Given the description of an element on the screen output the (x, y) to click on. 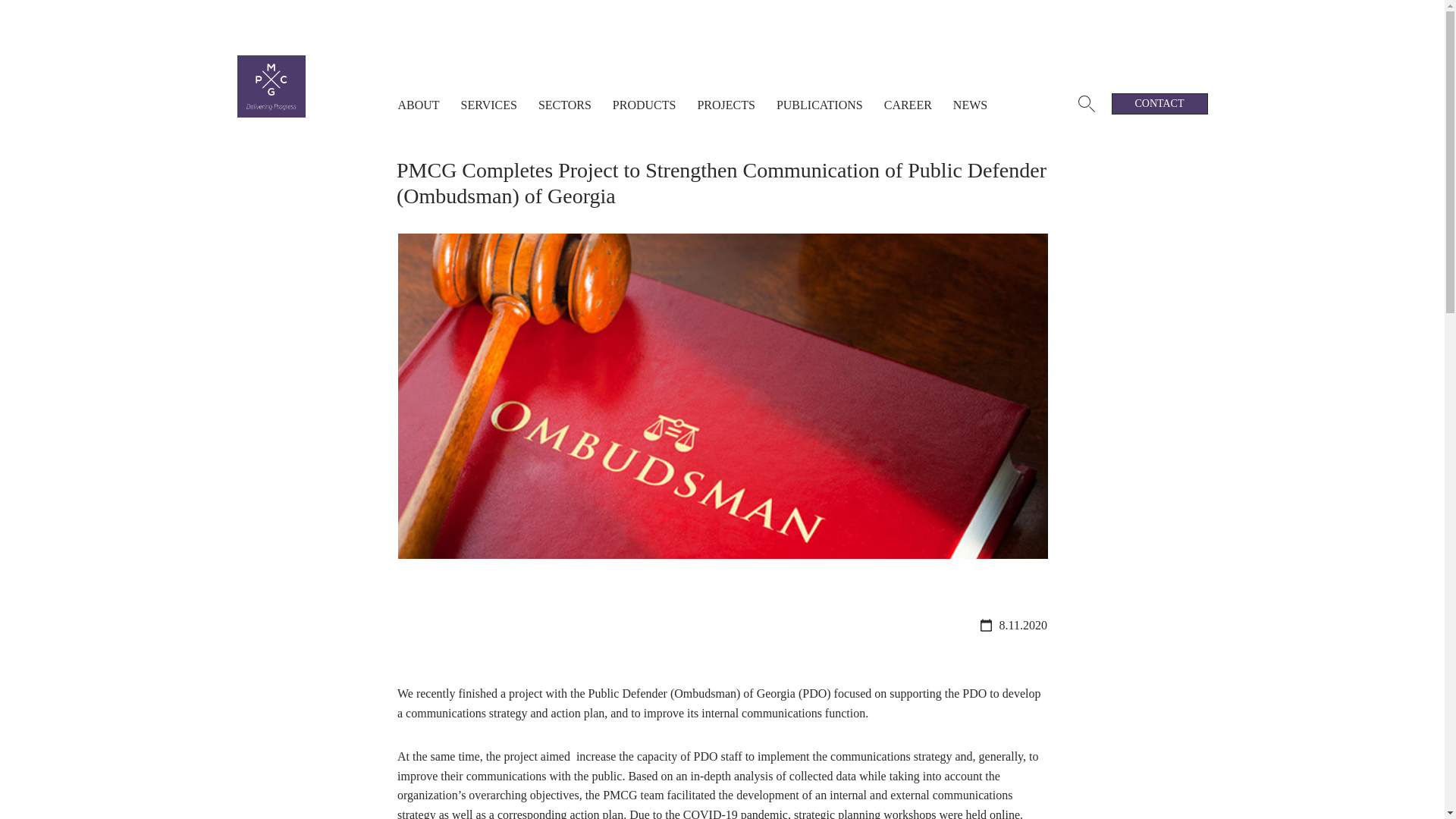
SERVICES (488, 84)
PUBLICATIONS (819, 84)
PRODUCTS (644, 84)
PROJECTS (725, 84)
